Given the description of an element on the screen output the (x, y) to click on. 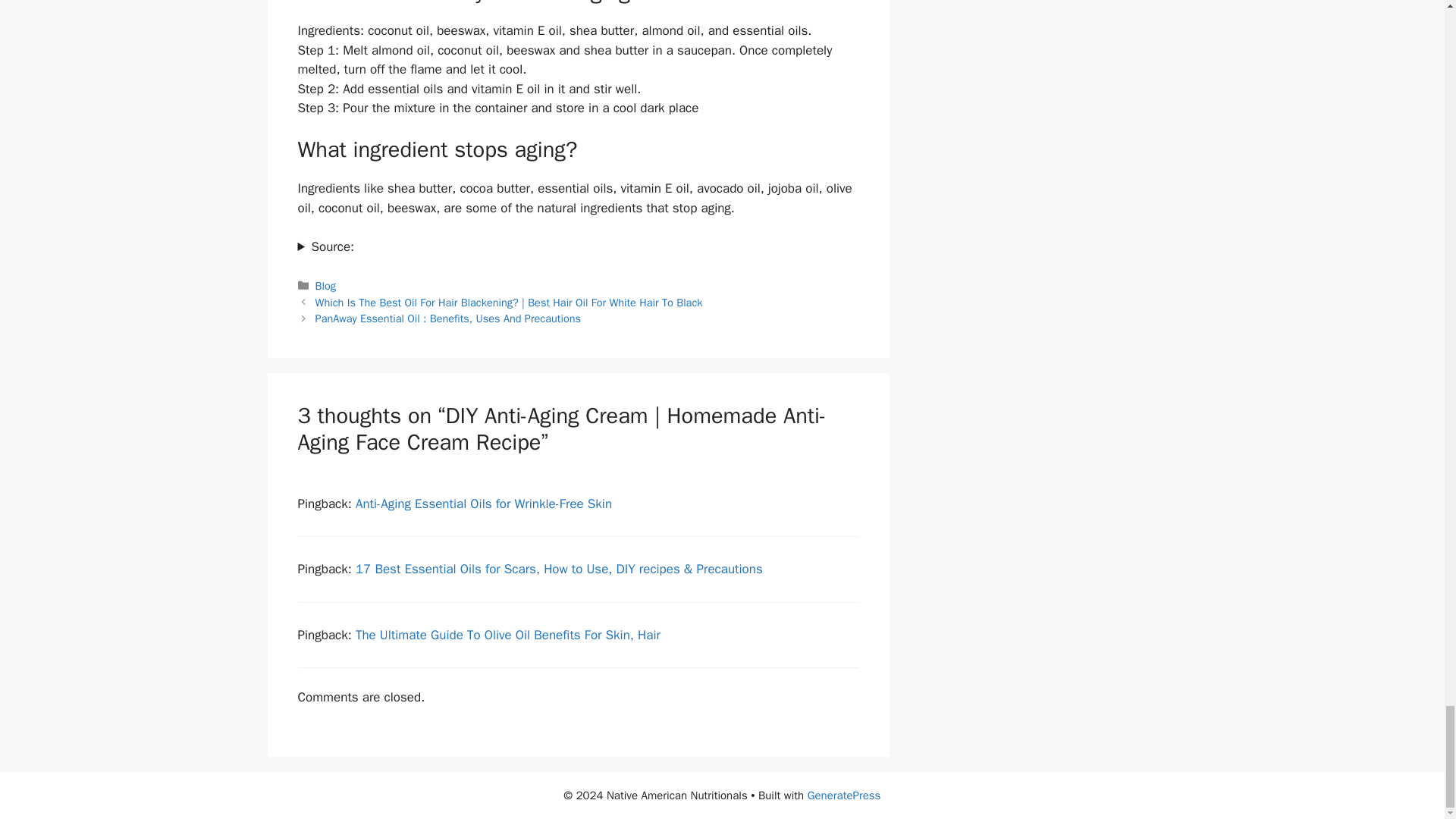
Anti-Aging Essential Oils for Wrinkle-Free Skin (483, 503)
PanAway Essential Oil : Benefits, Uses And Precautions (447, 318)
Blog (325, 285)
The Ultimate Guide To Olive Oil Benefits For Skin, Hair (508, 634)
